Given the description of an element on the screen output the (x, y) to click on. 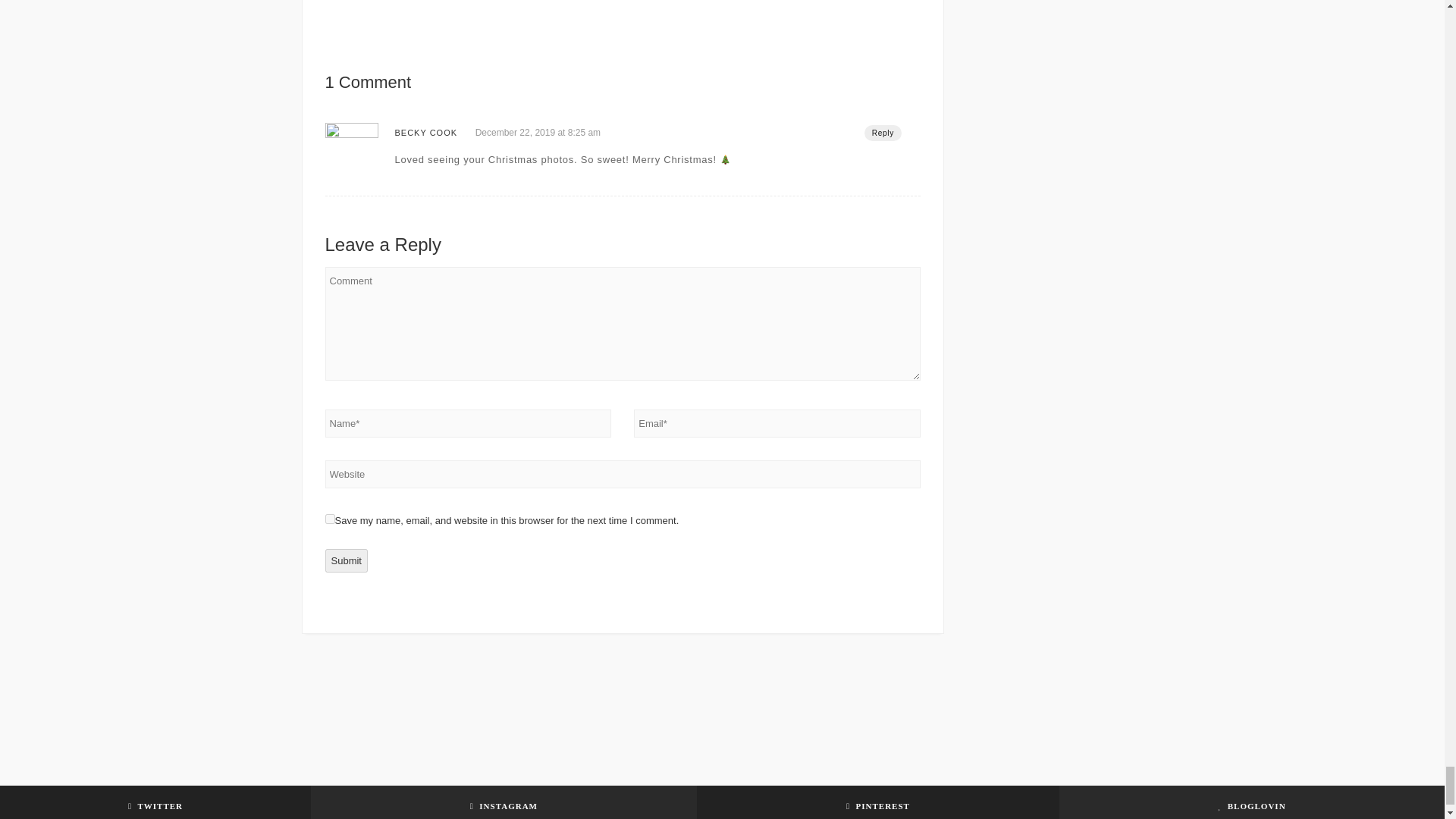
Submit (345, 560)
yes (329, 519)
